Given the description of an element on the screen output the (x, y) to click on. 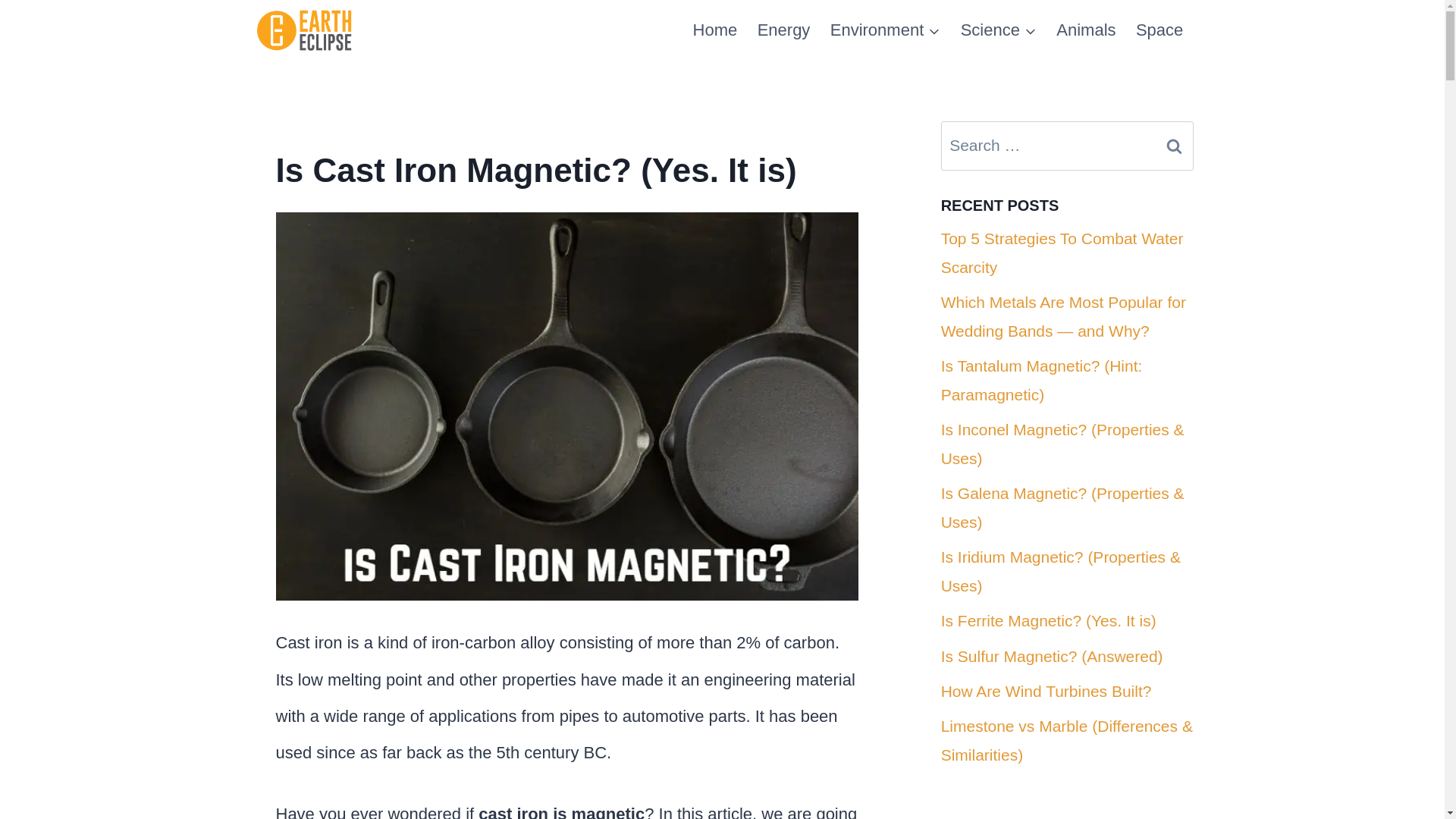
Space (1159, 30)
Environment (885, 30)
Science (998, 30)
Home (714, 30)
Energy (782, 30)
Animals (1085, 30)
